Given the description of an element on the screen output the (x, y) to click on. 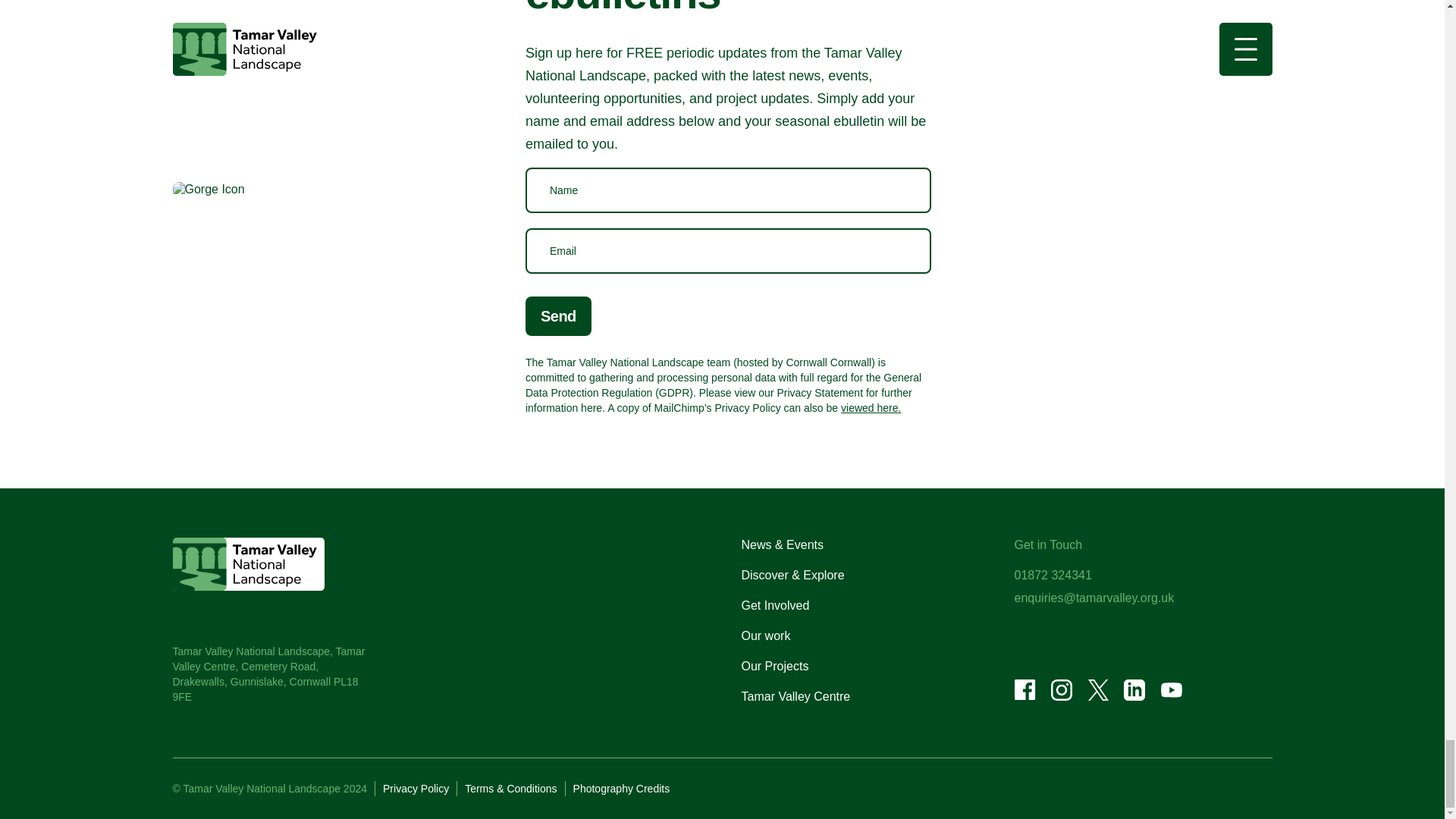
viewed here. (871, 408)
Send (558, 315)
